Given the description of an element on the screen output the (x, y) to click on. 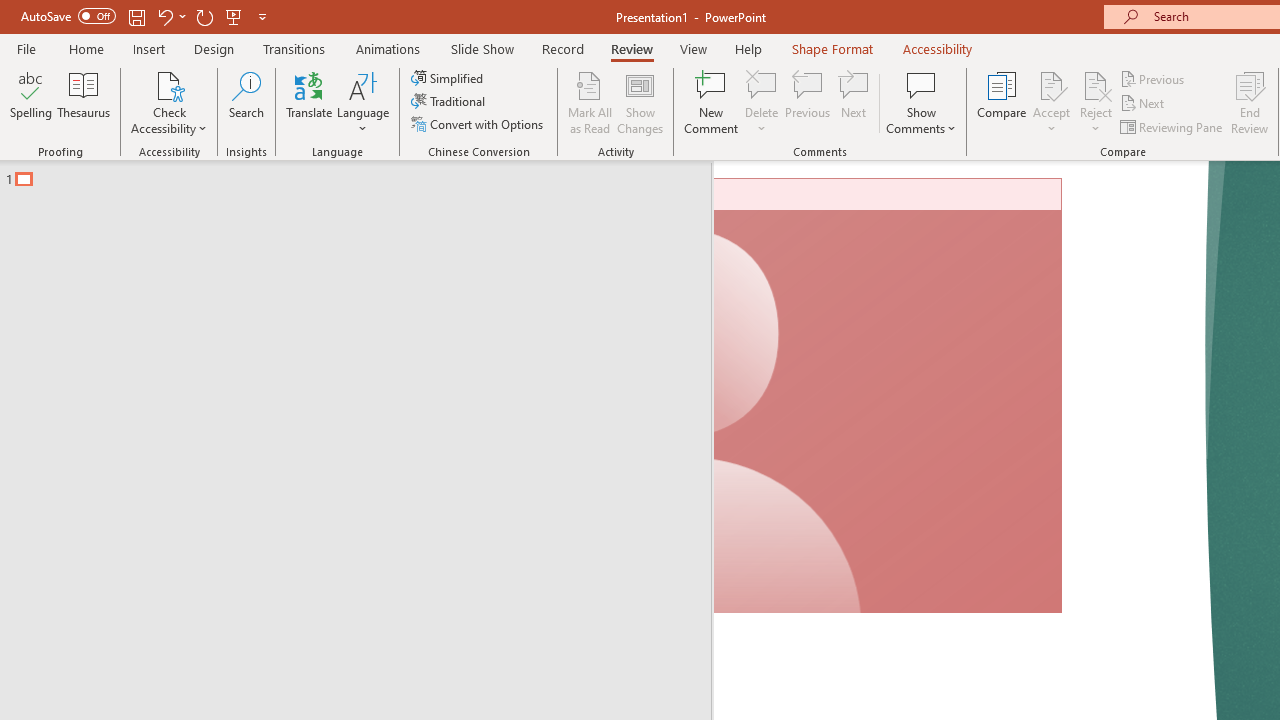
Spelling... (31, 102)
File Tab (26, 48)
Camera 7, No camera detected. (888, 395)
Compare (1002, 102)
Delete (762, 84)
Language (363, 102)
Search (246, 102)
Check Accessibility (169, 102)
Thesaurus... (83, 102)
System (10, 11)
Shape Format (832, 48)
From Beginning (234, 15)
Reject (1096, 102)
Mark All as Read (589, 102)
Save (136, 15)
